Given the description of an element on the screen output the (x, y) to click on. 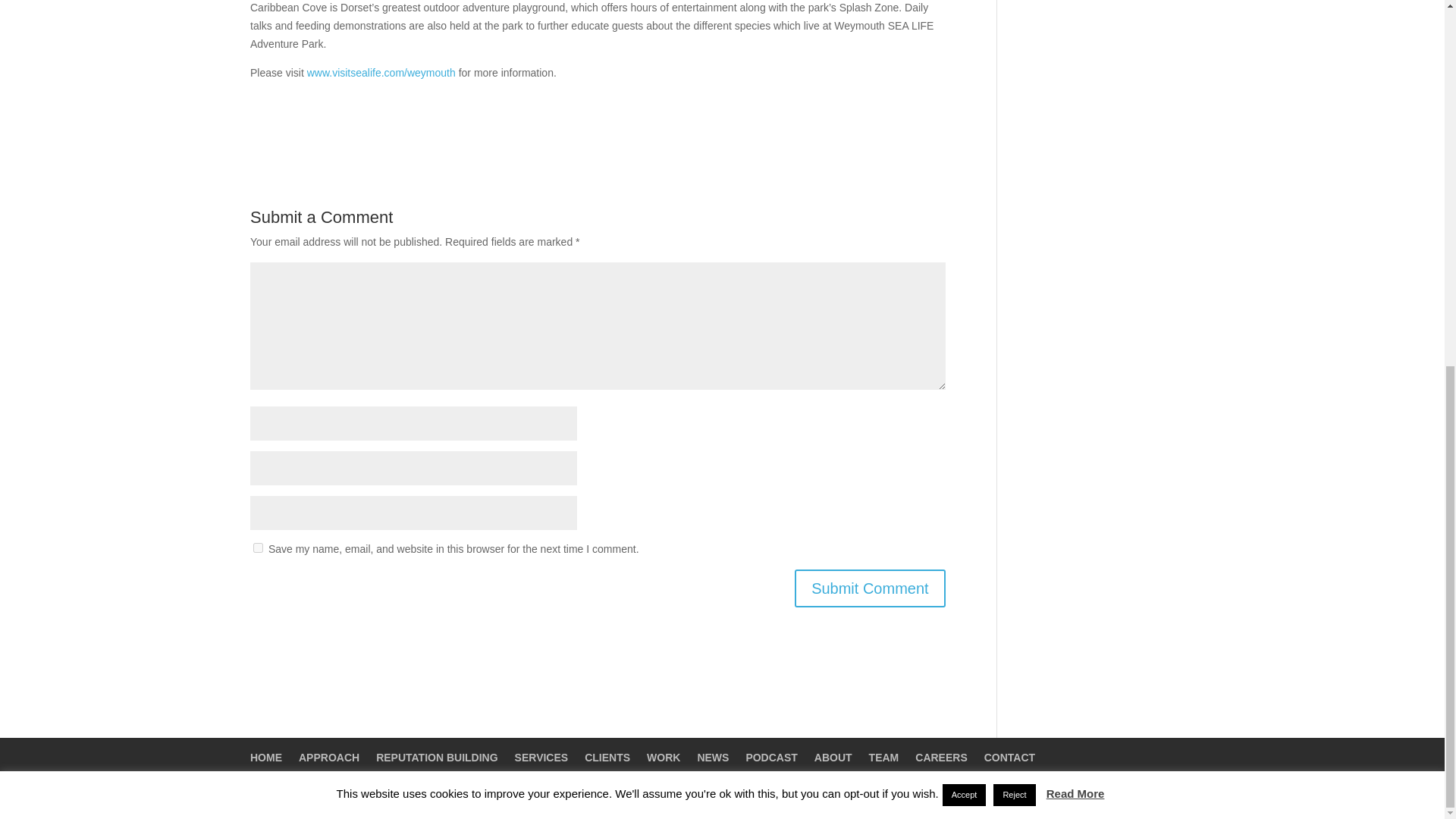
CLIENTS (607, 757)
yes (258, 547)
APPROACH (328, 757)
WORK (662, 757)
HOME (266, 757)
SERVICES (542, 757)
Submit Comment (869, 588)
Submit Comment (869, 588)
REPUTATION BUILDING (436, 757)
